Given the description of an element on the screen output the (x, y) to click on. 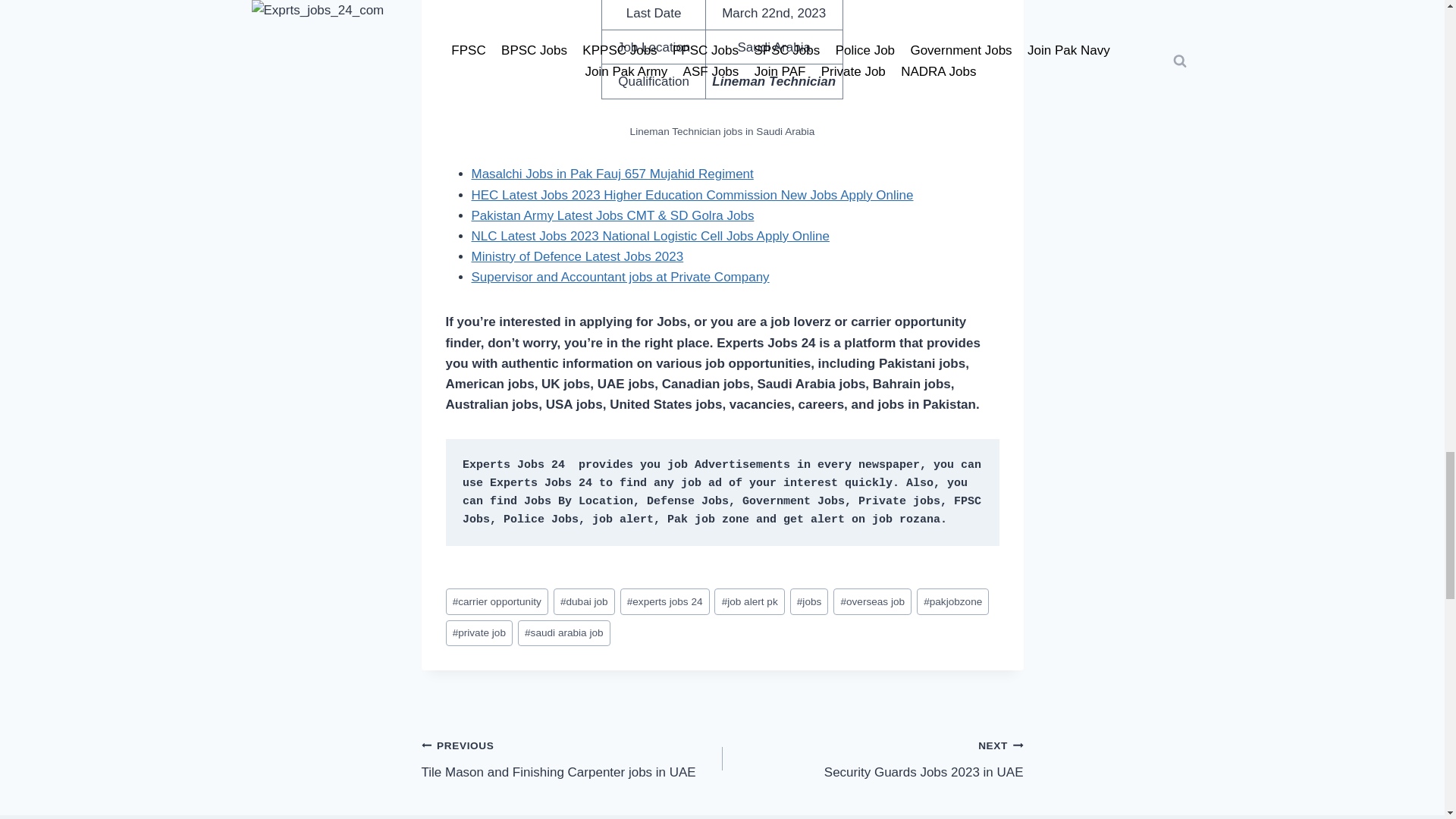
carrier opportunity (496, 601)
Masalchi Jobs in Pak Fauj 657 Mujahid Regiment (612, 173)
pakjobzone (952, 601)
overseas job (871, 601)
Ministry of Defence Latest Jobs 2023 (577, 256)
private job (479, 633)
dubai job (572, 758)
job alert pk (583, 601)
Supervisor and Accountant jobs at Private Company (749, 601)
saudi arabia job (620, 277)
experts jobs 24 (564, 633)
